Given the description of an element on the screen output the (x, y) to click on. 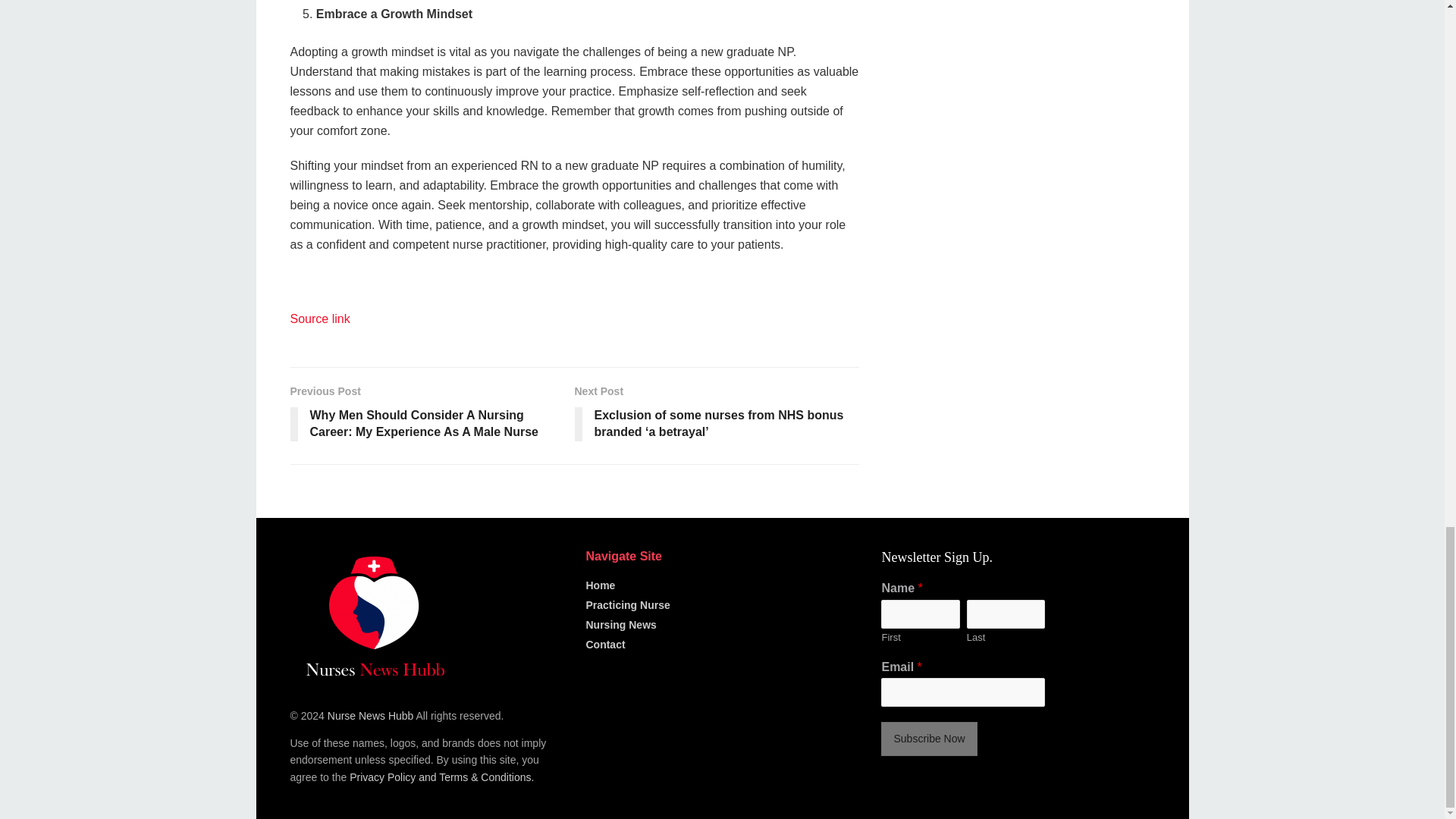
Nurses white (373, 615)
Source link (319, 318)
